Given the description of an element on the screen output the (x, y) to click on. 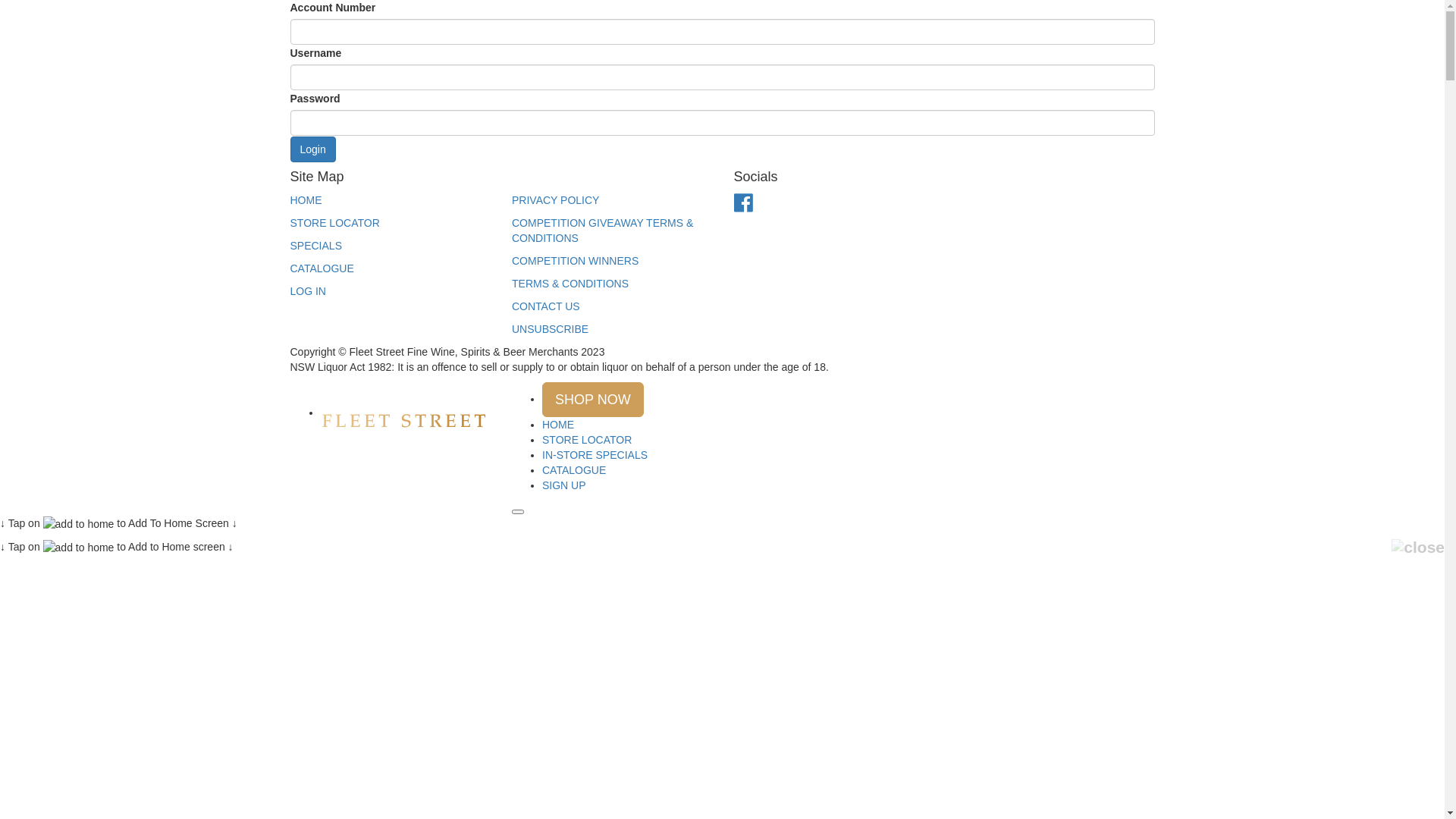
STORE LOCATOR Element type: text (586, 439)
HOME Element type: text (558, 424)
UNSUBSCRIBE Element type: text (549, 329)
CATALOGUE Element type: text (573, 470)
STORE LOCATOR Element type: text (334, 222)
SIGN UP Element type: text (564, 485)
SHOP NOW Element type: text (592, 399)
Connect with Fleet Street on Facebook Element type: hover (743, 206)
HOME Element type: text (305, 200)
SPECIALS Element type: text (315, 245)
COMPETITION GIVEAWAY TERMS & CONDITIONS Element type: text (602, 230)
COMPETITION WINNERS Element type: text (574, 260)
Login Element type: text (312, 149)
CONTACT US Element type: text (545, 306)
LOG IN Element type: text (307, 291)
IN-STORE SPECIALS Element type: text (594, 454)
TERMS & CONDITIONS Element type: text (569, 283)
CATALOGUE Element type: text (321, 268)
PRIVACY POLICY Element type: text (555, 200)
